Given the description of an element on the screen output the (x, y) to click on. 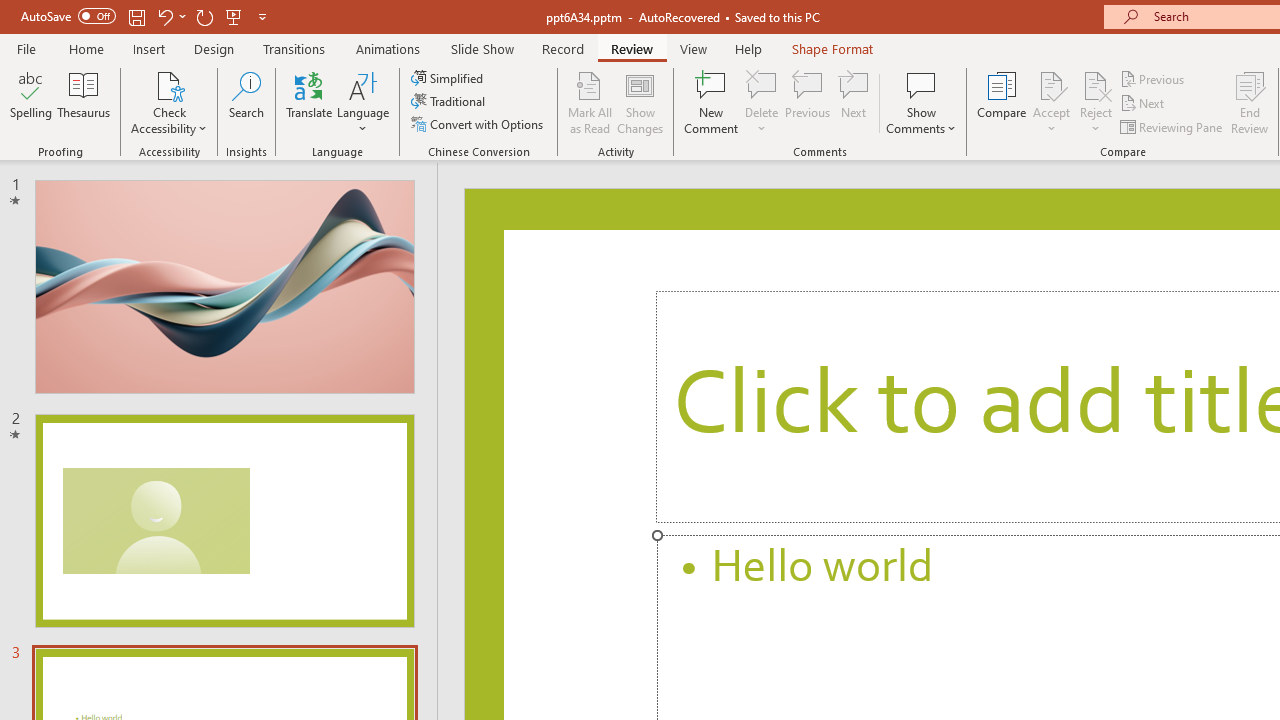
End Review (1249, 102)
Convert with Options... (479, 124)
Accept (1051, 102)
Show Comments (921, 84)
Search (246, 102)
Shape Format (832, 48)
Language (363, 102)
Previous (1153, 78)
